Given the description of an element on the screen output the (x, y) to click on. 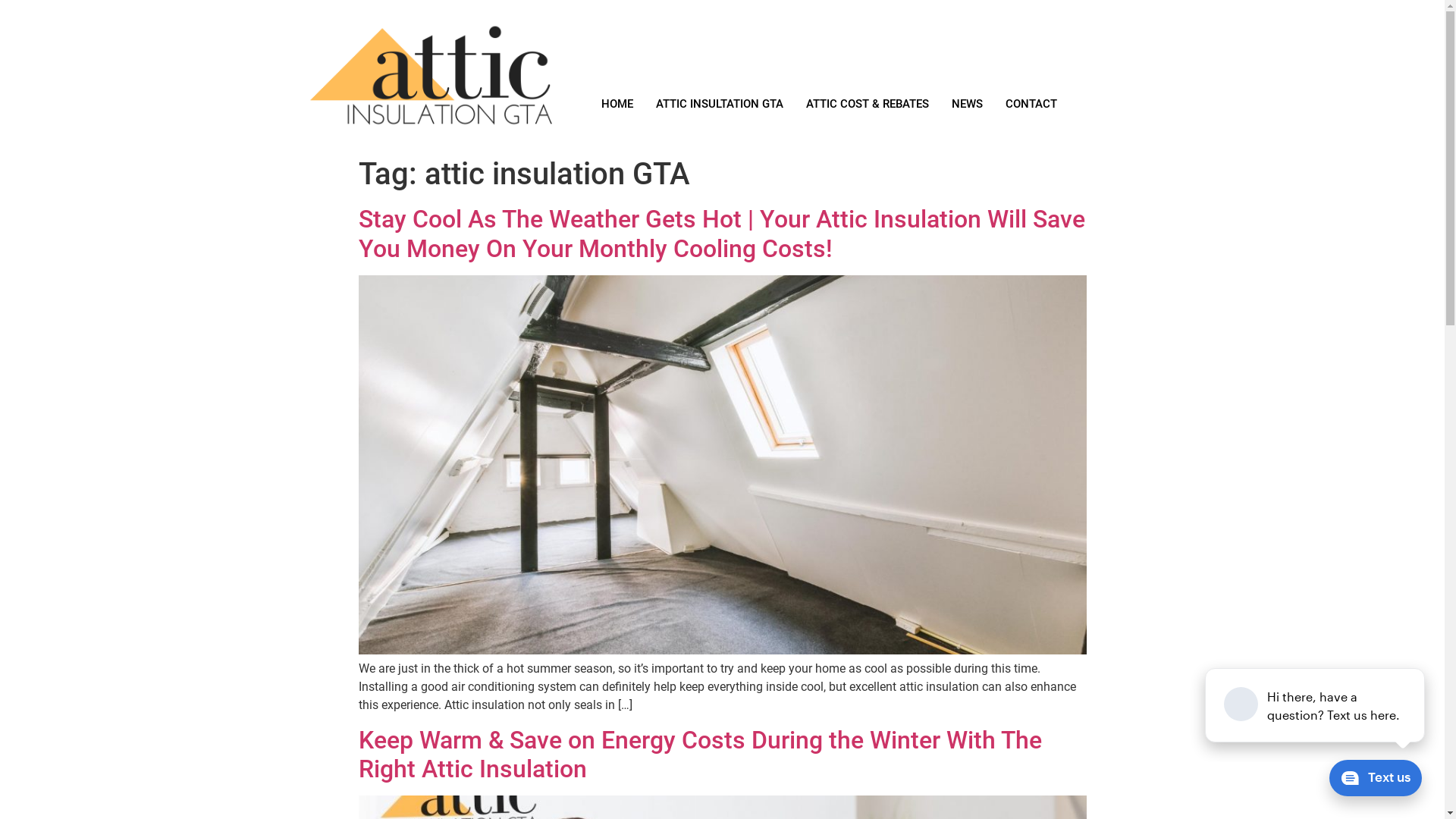
CONTACT Element type: text (1031, 103)
ATTIC INSULTATION GTA Element type: text (719, 103)
podium webchat widget prompt Element type: hover (1315, 705)
NEWS Element type: text (967, 103)
HOME Element type: text (616, 103)
ATTIC COST & REBATES Element type: text (867, 103)
